Given the description of an element on the screen output the (x, y) to click on. 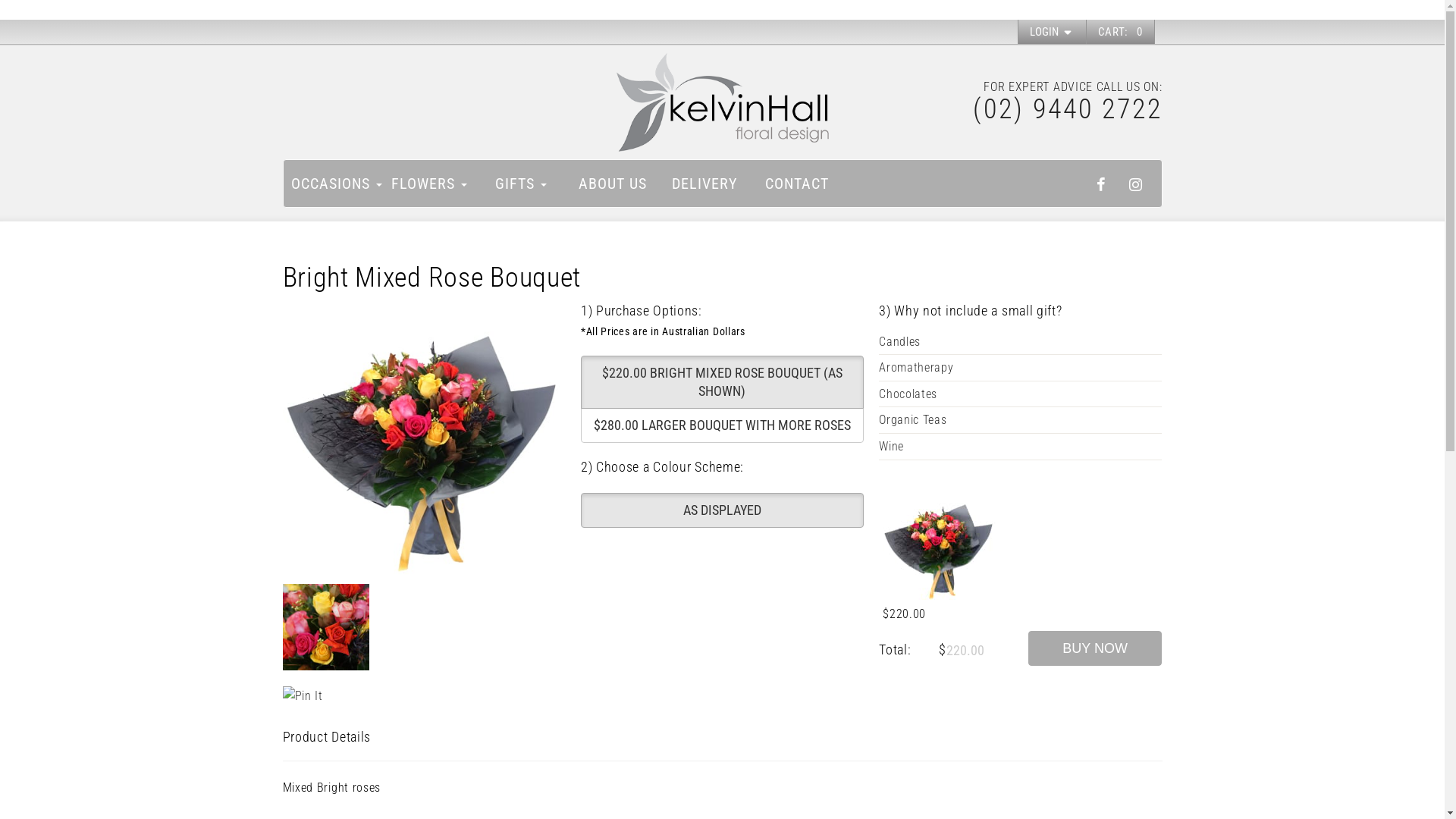
LOGIN Element type: text (1051, 31)
GIFTS Element type: text (520, 183)
Wine Element type: text (1019, 446)
BUY NOW Element type: text (1095, 647)
CART: 0 Element type: text (1120, 31)
Aromatherapy Element type: text (1019, 367)
OCCASIONS Element type: text (336, 183)
Candles Element type: text (1019, 341)
CONTACT Element type: text (796, 183)
The Rose Garden Florist Element type: hover (721, 102)
$220.00 BRIGHT MIXED ROSE BOUQUET (AS SHOWN) Element type: text (721, 381)
FLOWERS Element type: text (428, 183)
Pin It Element type: hover (302, 696)
Chocolates Element type: text (1019, 394)
DELIVERY Element type: text (704, 183)
Organic Teas Element type: text (1019, 419)
$280.00 LARGER BOUQUET WITH MORE ROSES Element type: text (721, 424)
ABOUT US Element type: text (612, 183)
